Given the description of an element on the screen output the (x, y) to click on. 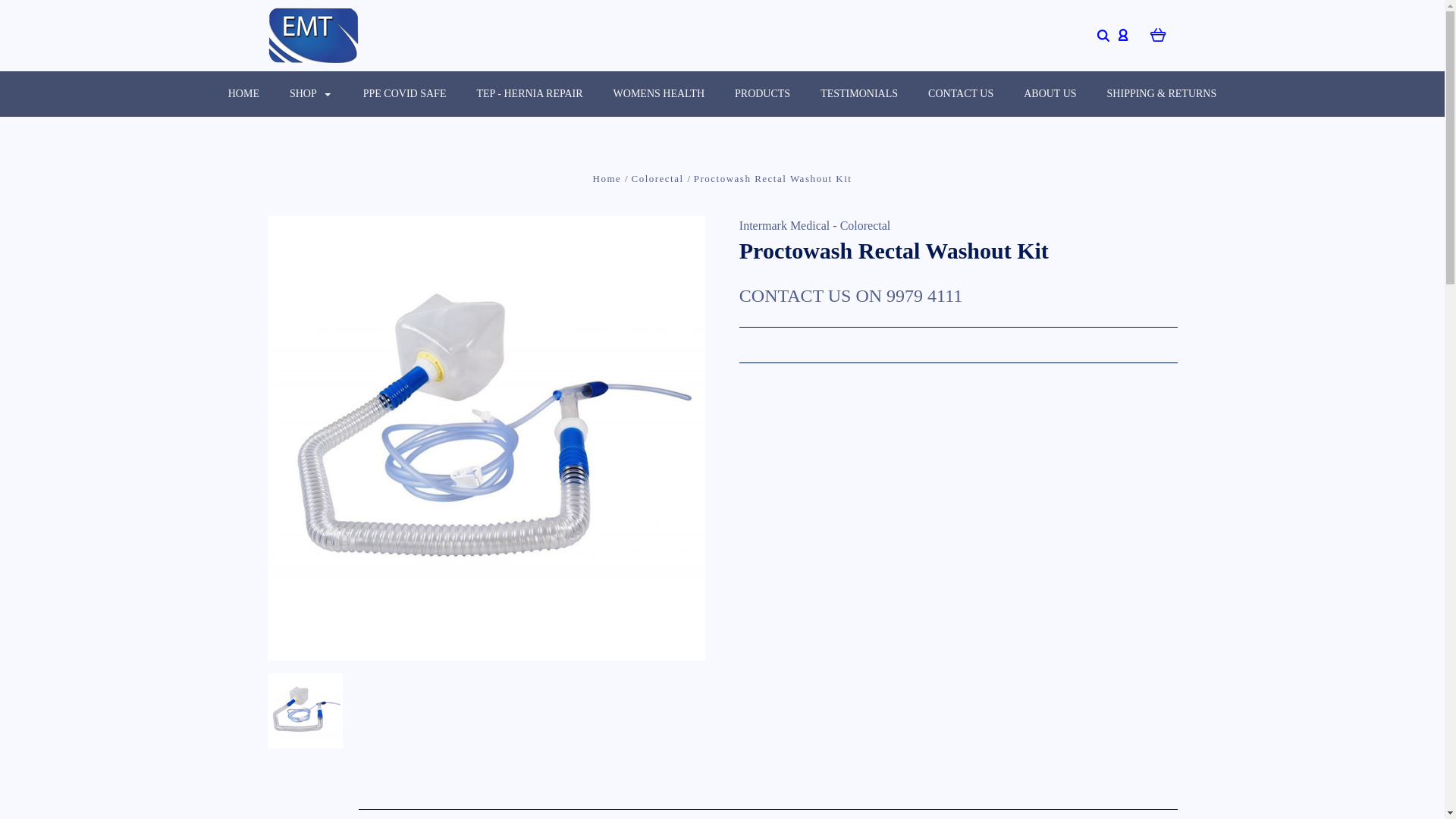
SHOP (311, 94)
TEP - HERNIA REPAIR (529, 94)
Colorectal (658, 178)
Home (609, 178)
Proctowash Rectal Washout Kit (304, 711)
WOMENS HEALTH (658, 94)
PPE COVID SAFE (404, 94)
HOME (243, 94)
PRODUCTS (761, 94)
